Given the description of an element on the screen output the (x, y) to click on. 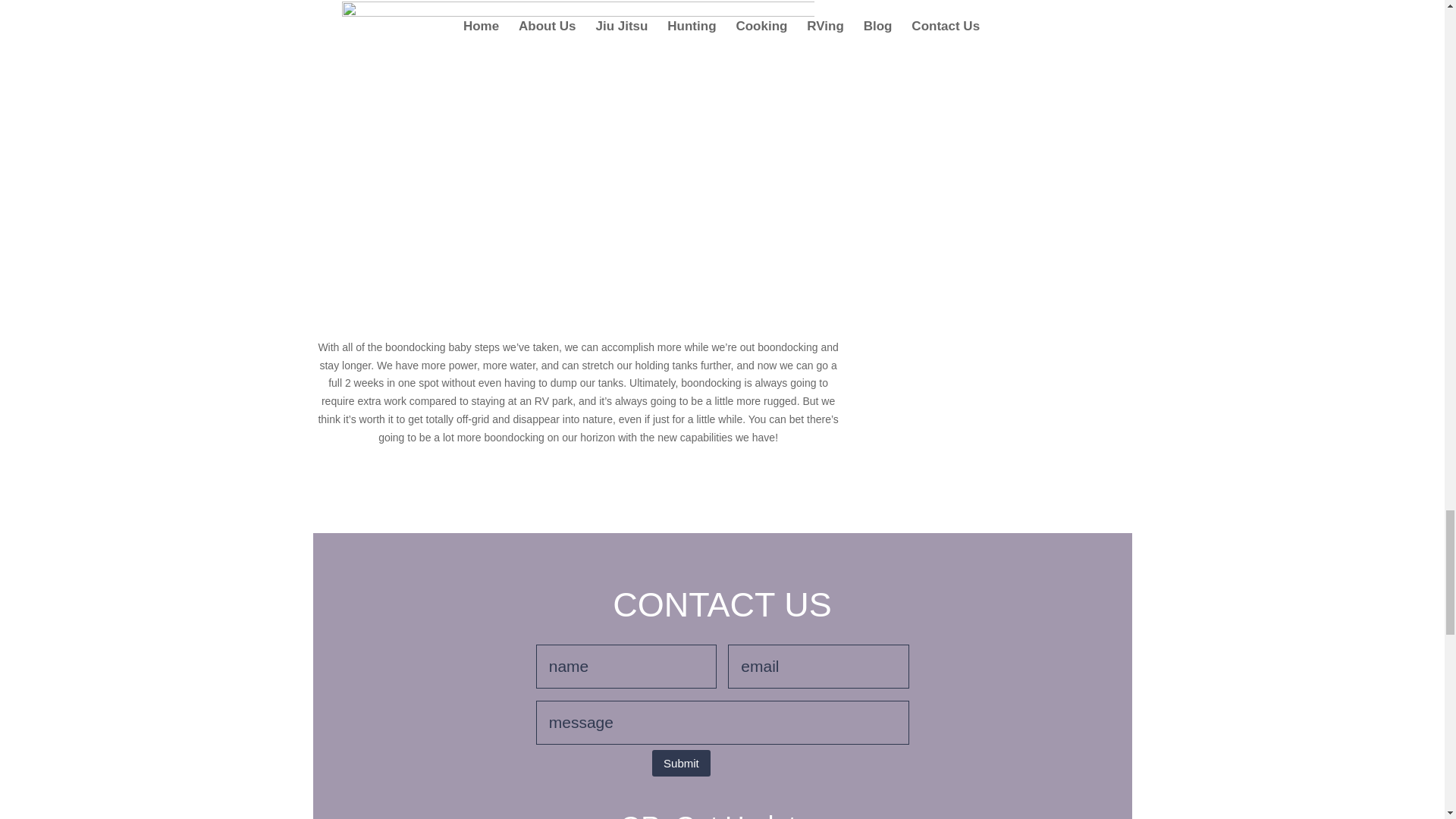
Submit (681, 763)
Minimum length: 1 characters.  (721, 722)
